Given the description of an element on the screen output the (x, y) to click on. 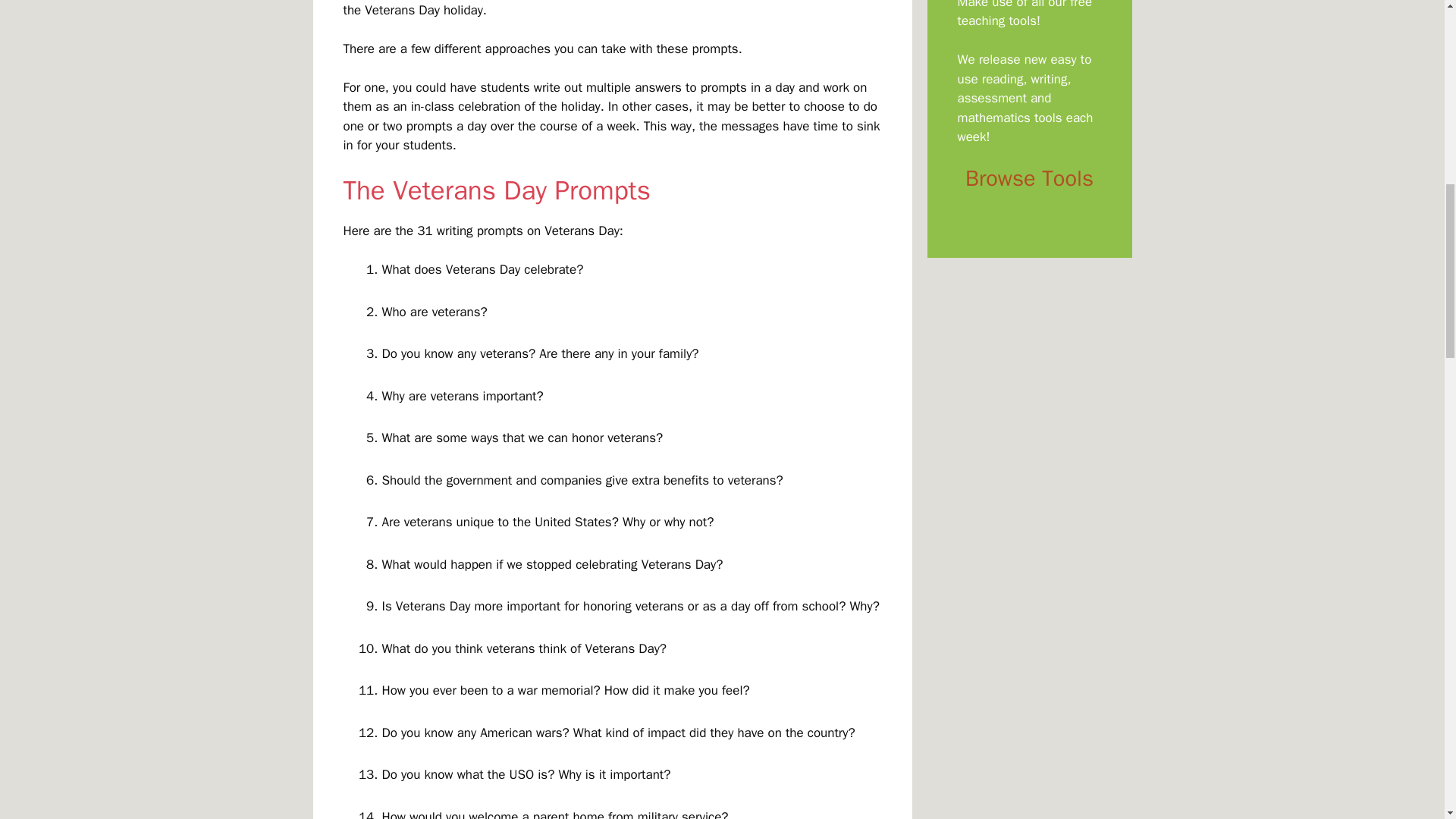
Browse Tools (1029, 178)
